Given the description of an element on the screen output the (x, y) to click on. 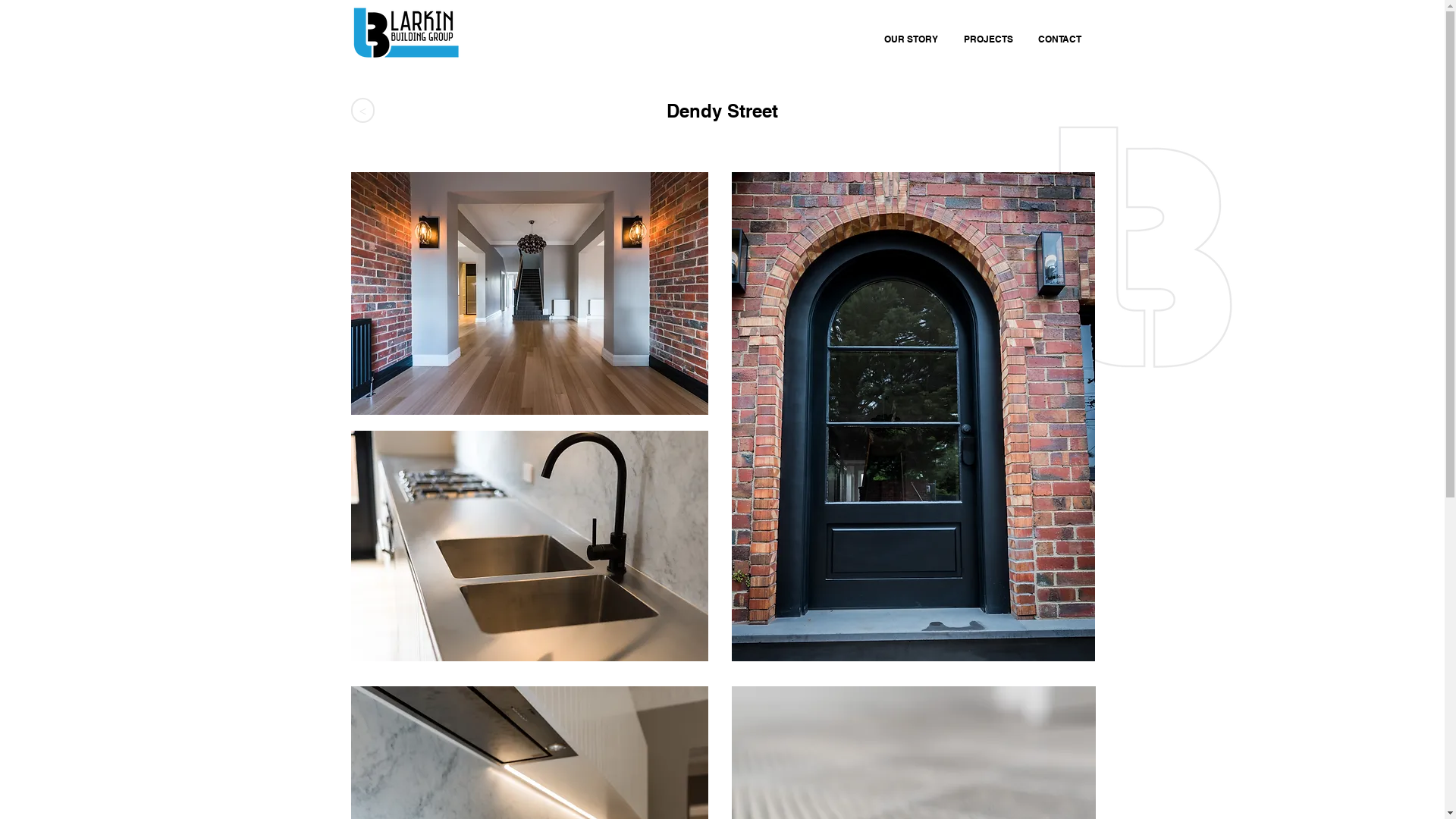
OUR STORY Element type: text (910, 32)
PROJECTS Element type: text (988, 32)
> Element type: text (361, 109)
CONTACT Element type: text (1059, 32)
